Given the description of an element on the screen output the (x, y) to click on. 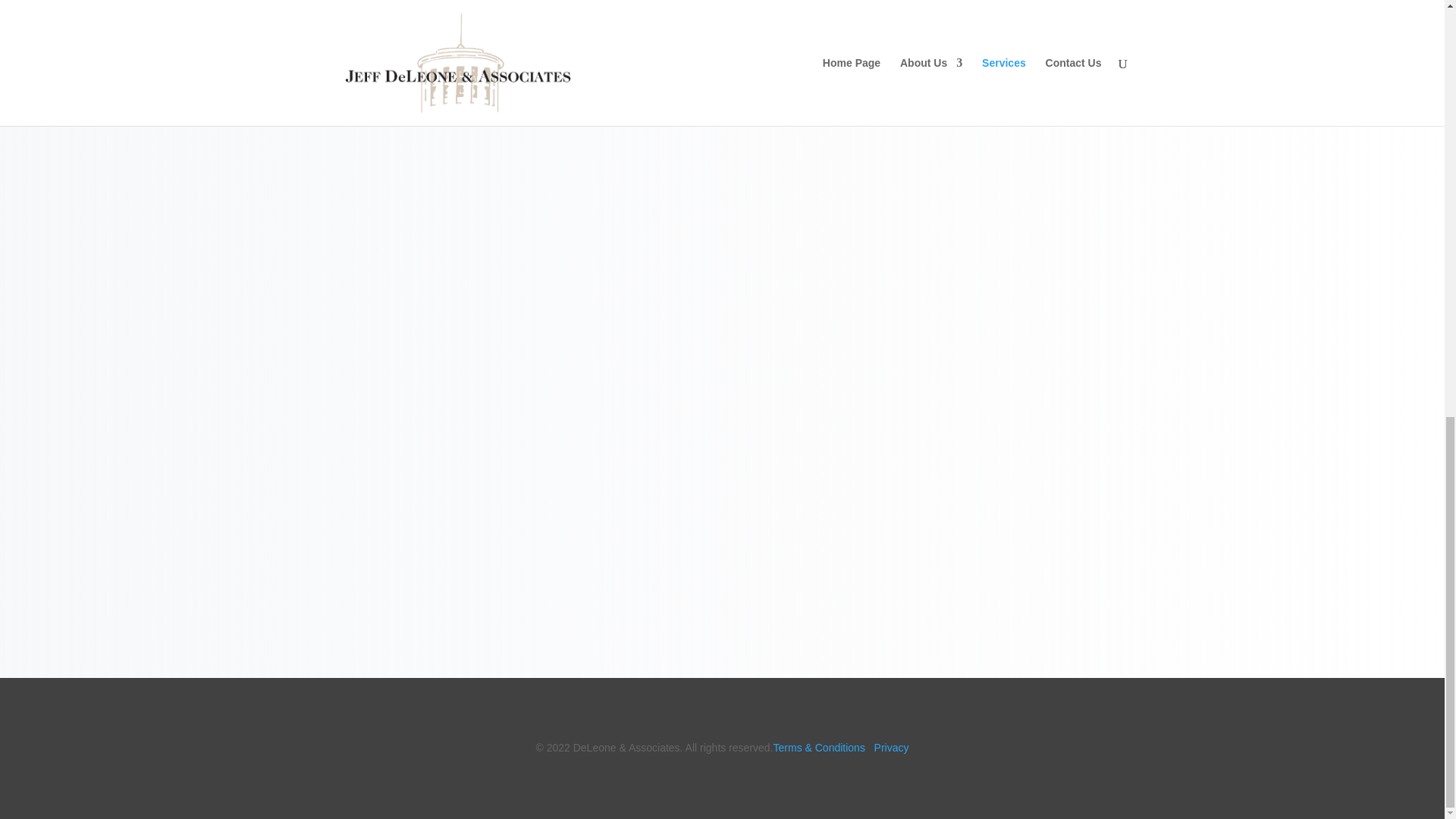
Privacy (891, 747)
